Given the description of an element on the screen output the (x, y) to click on. 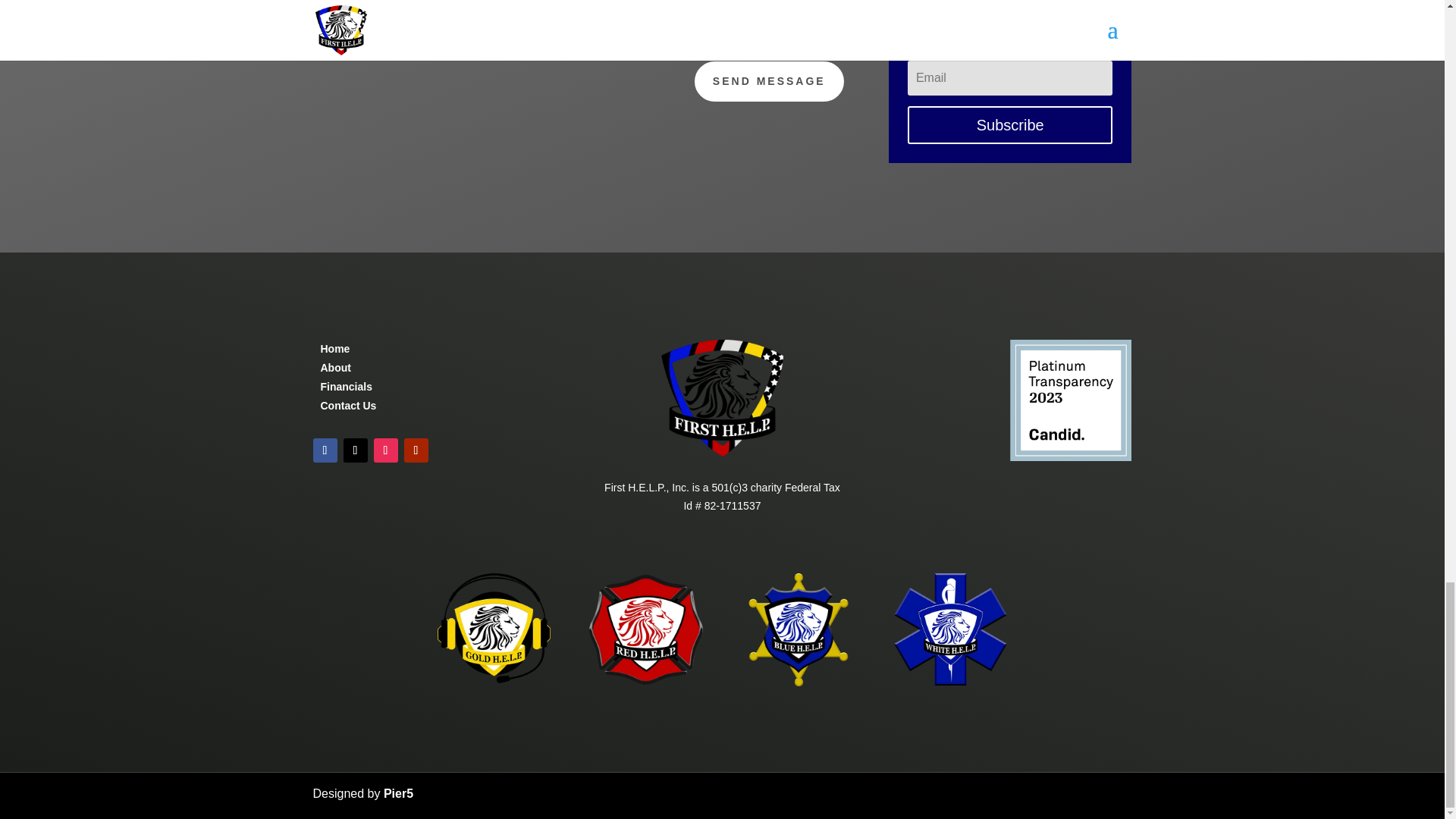
1st Help Logo - resized (722, 452)
Follow on Youtube (415, 450)
Red H.E.L.P. (645, 682)
candid-seal-platinum-2023 (1070, 457)
Blue H.E.L.P. (797, 682)
Follow on Instagram (384, 450)
Follow on Facebook (324, 450)
Follow on X (354, 450)
